Given the description of an element on the screen output the (x, y) to click on. 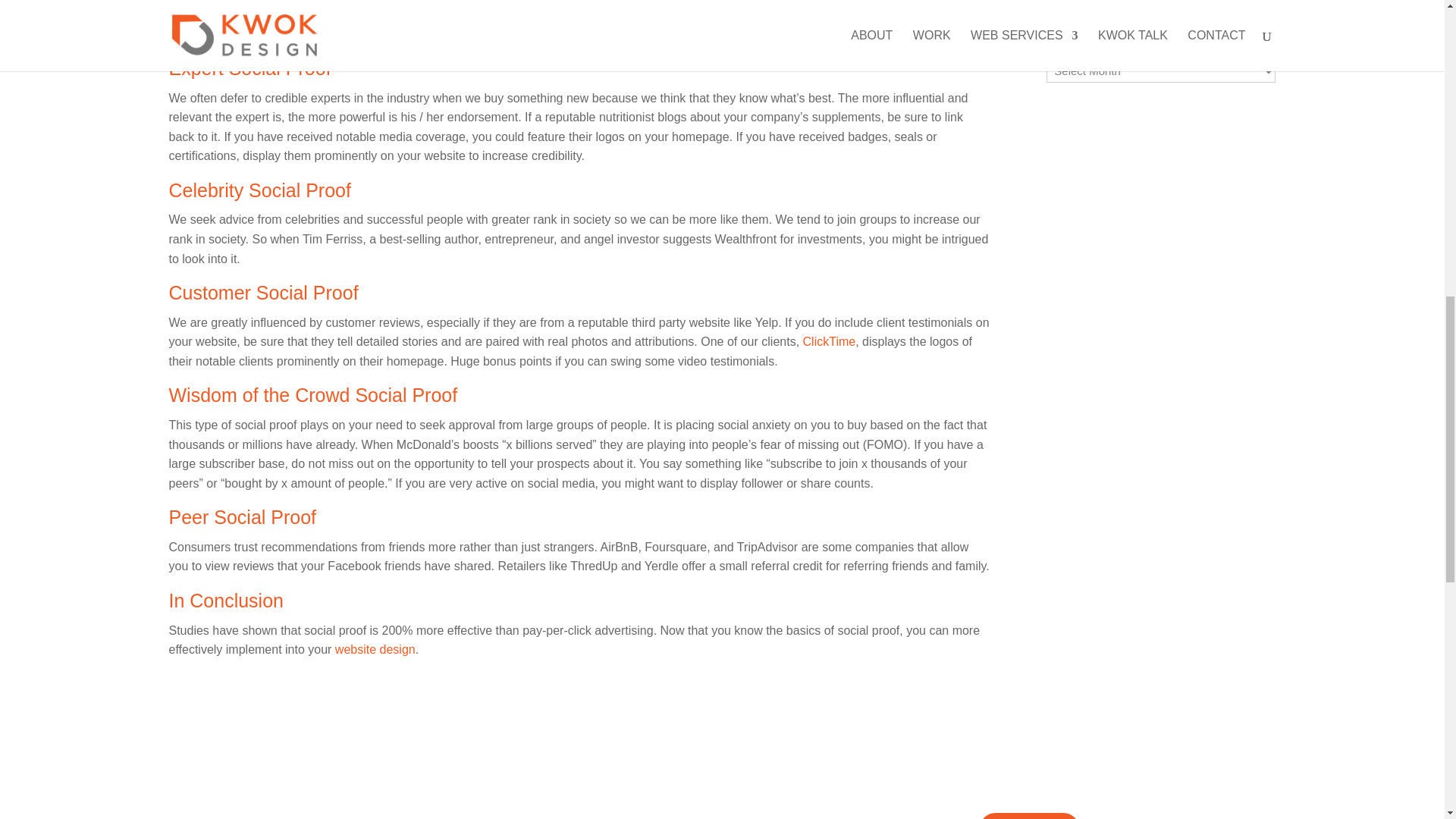
Trends (1064, 1)
ClickTime (829, 341)
LET'S CHAT! (1028, 816)
website design (374, 649)
